Given the description of an element on the screen output the (x, y) to click on. 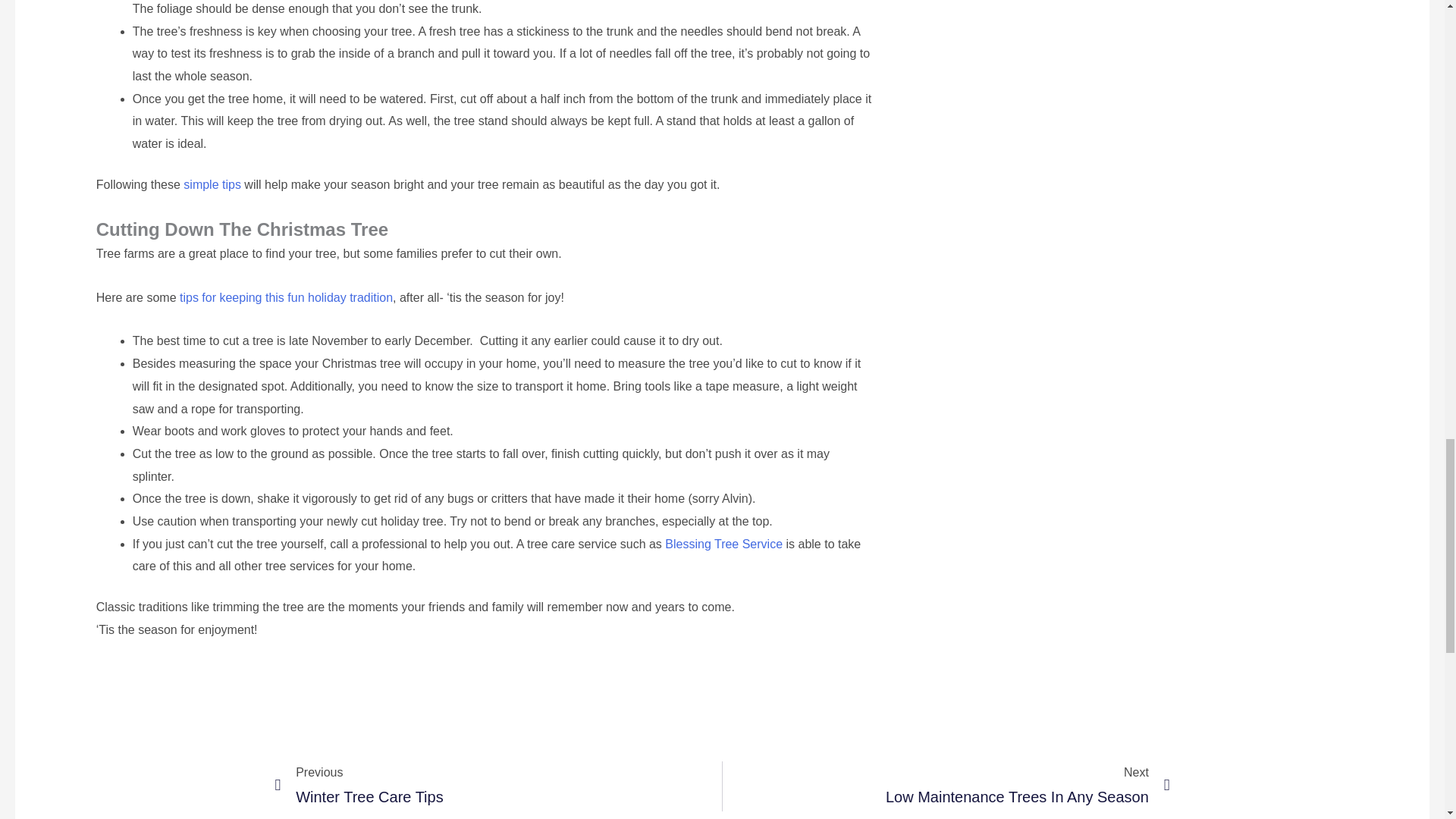
tips for keeping this fun holiday tradition (284, 297)
Blessing Tree Service (946, 786)
simple tips (498, 786)
